Given the description of an element on the screen output the (x, y) to click on. 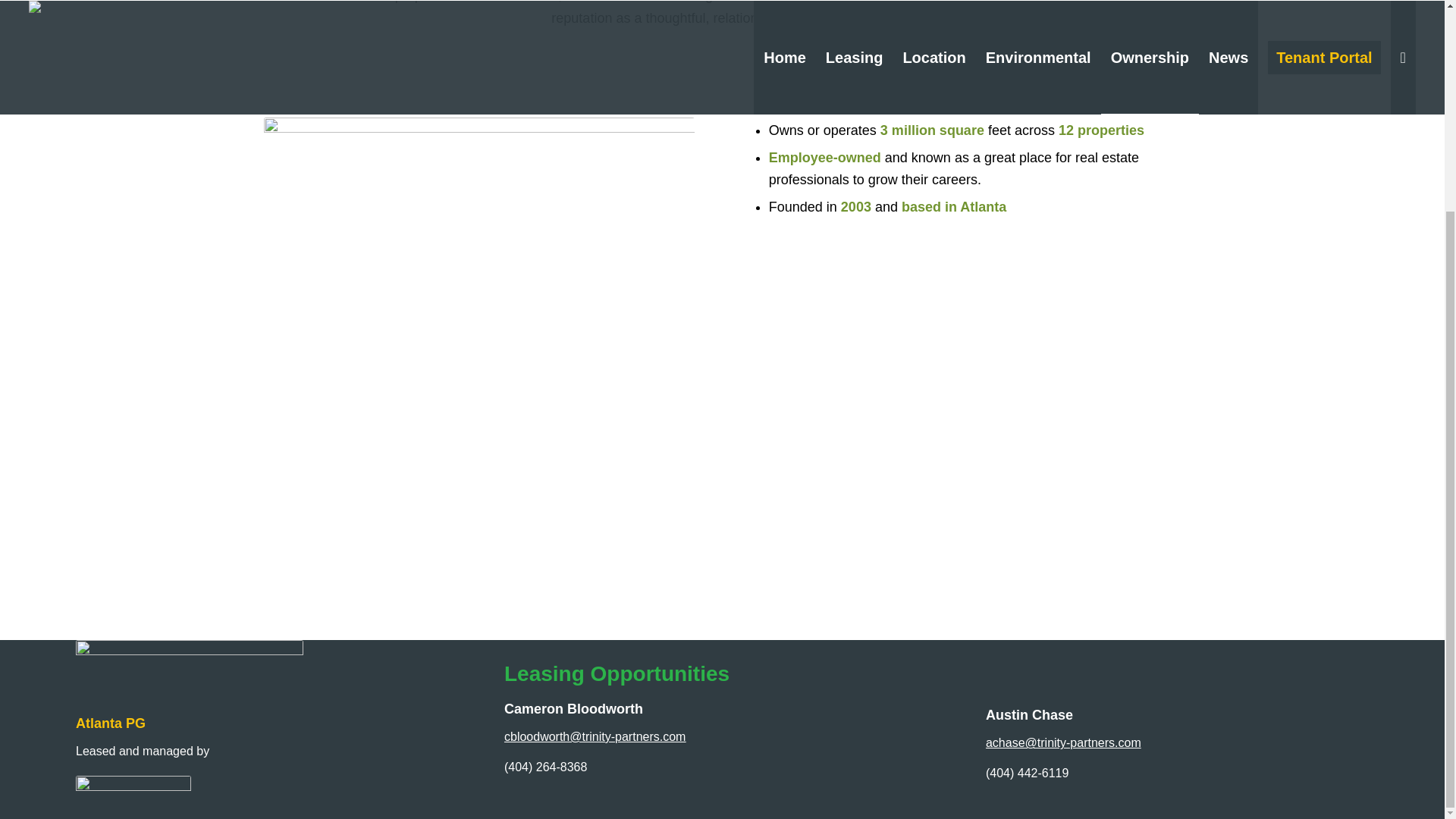
Atlanta PG (110, 723)
Palisades-Transparent LOGO1 (188, 677)
TP Logo - Wordmark - RGB - White (132, 793)
